Given the description of an element on the screen output the (x, y) to click on. 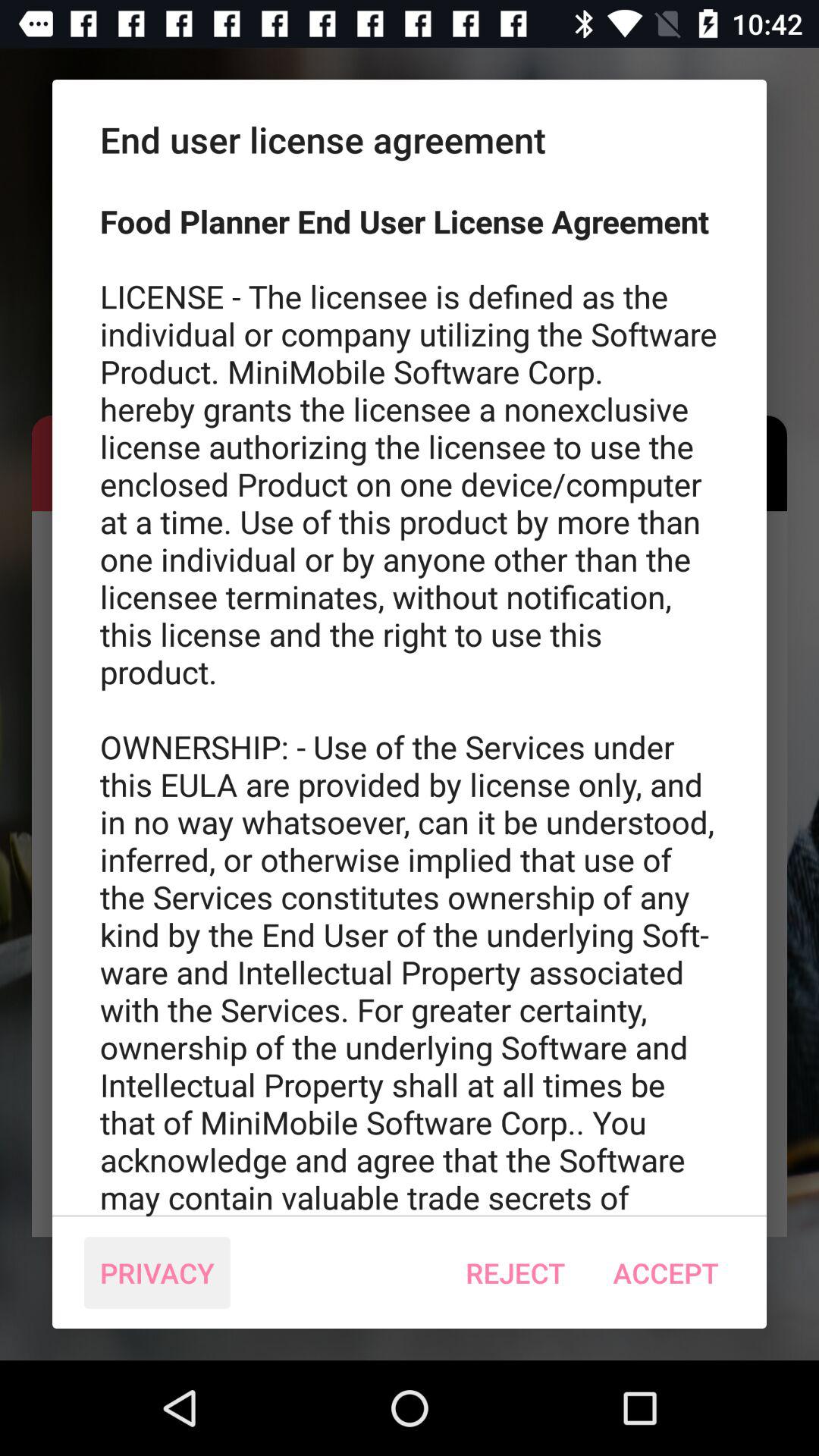
turn off the item next to the reject item (665, 1272)
